Given the description of an element on the screen output the (x, y) to click on. 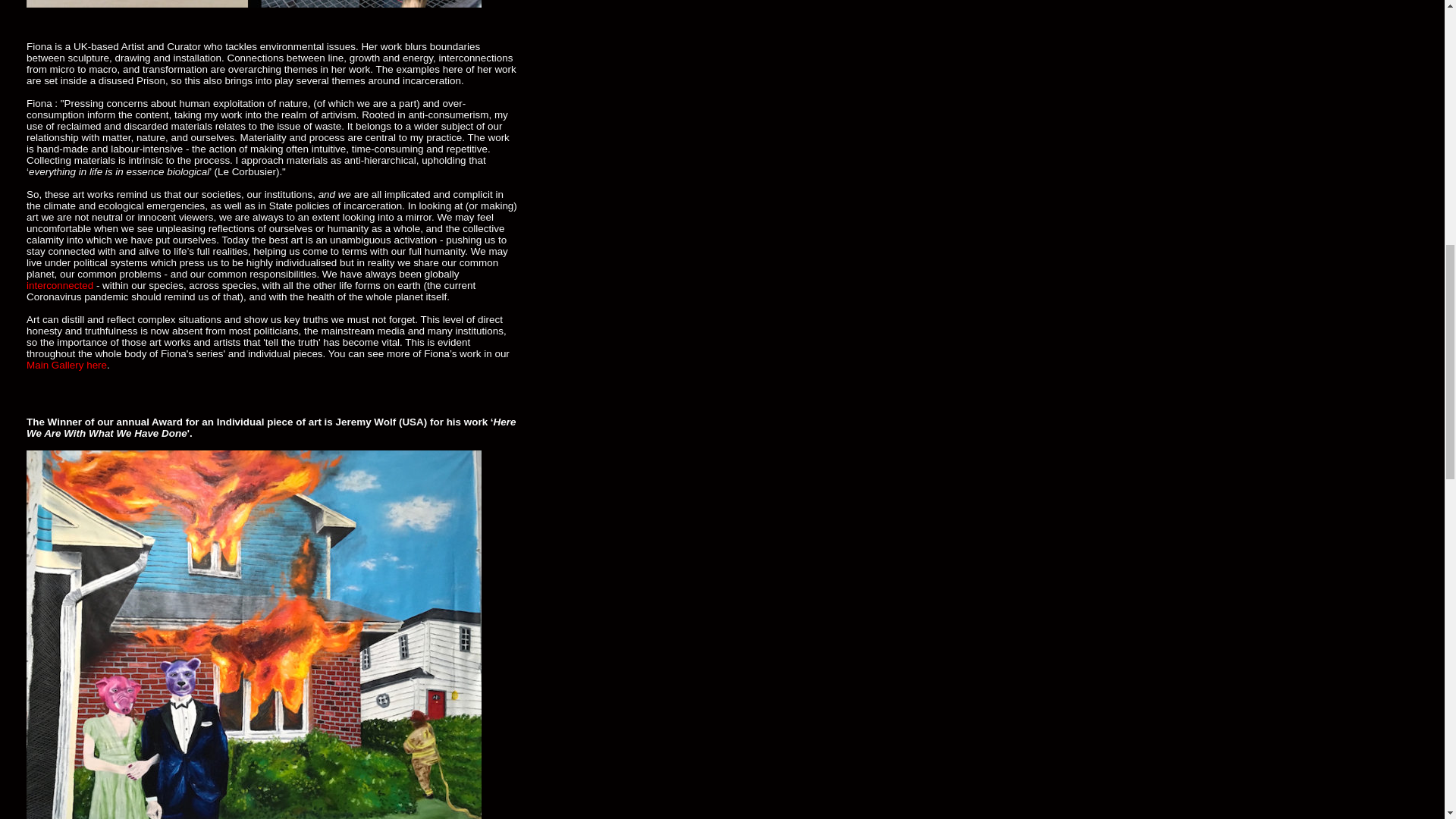
interconnected (59, 285)
Main Gallery here (66, 365)
